Given the description of an element on the screen output the (x, y) to click on. 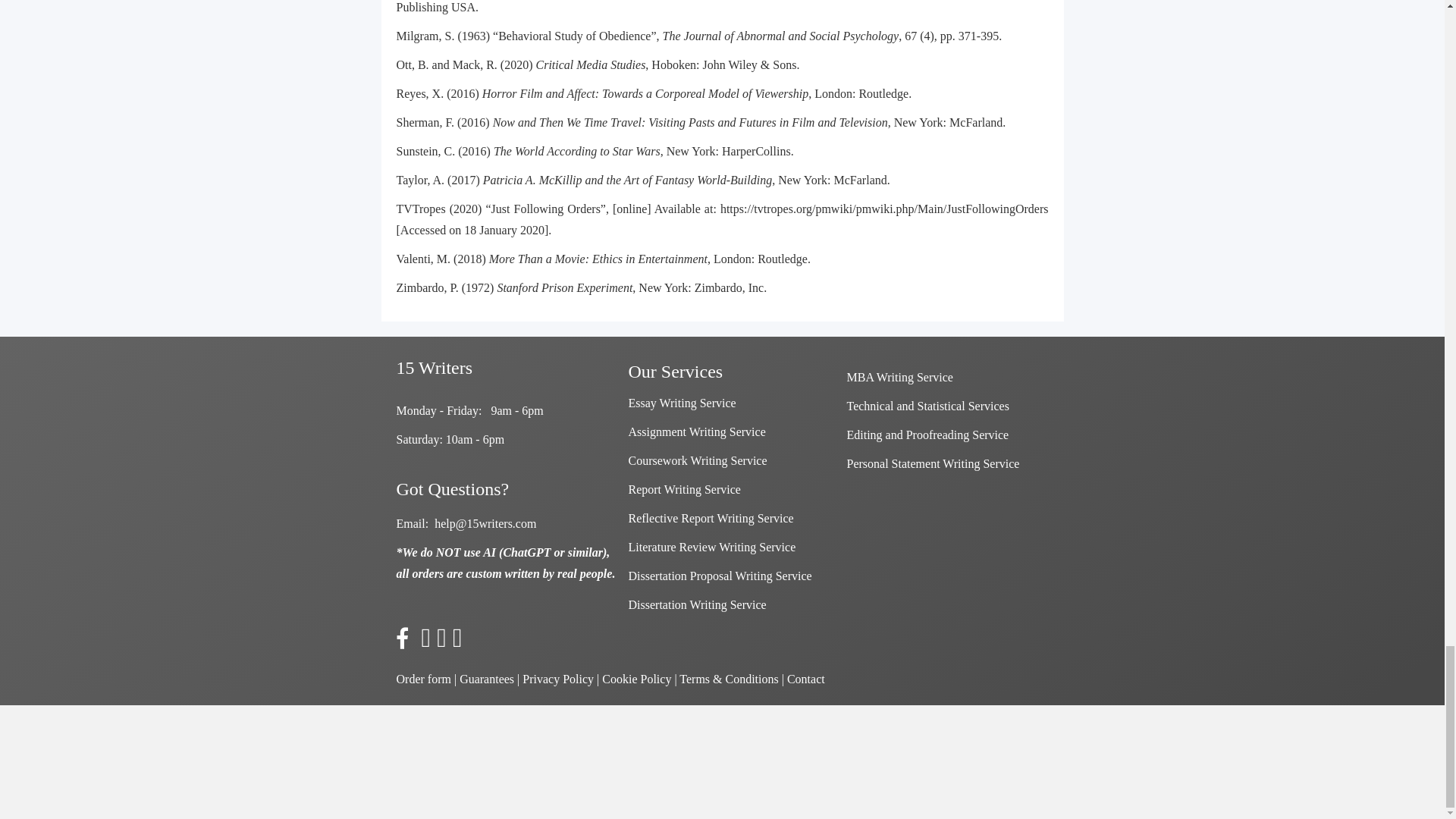
DMCA.com Protection Status (113, 760)
